Given the description of an element on the screen output the (x, y) to click on. 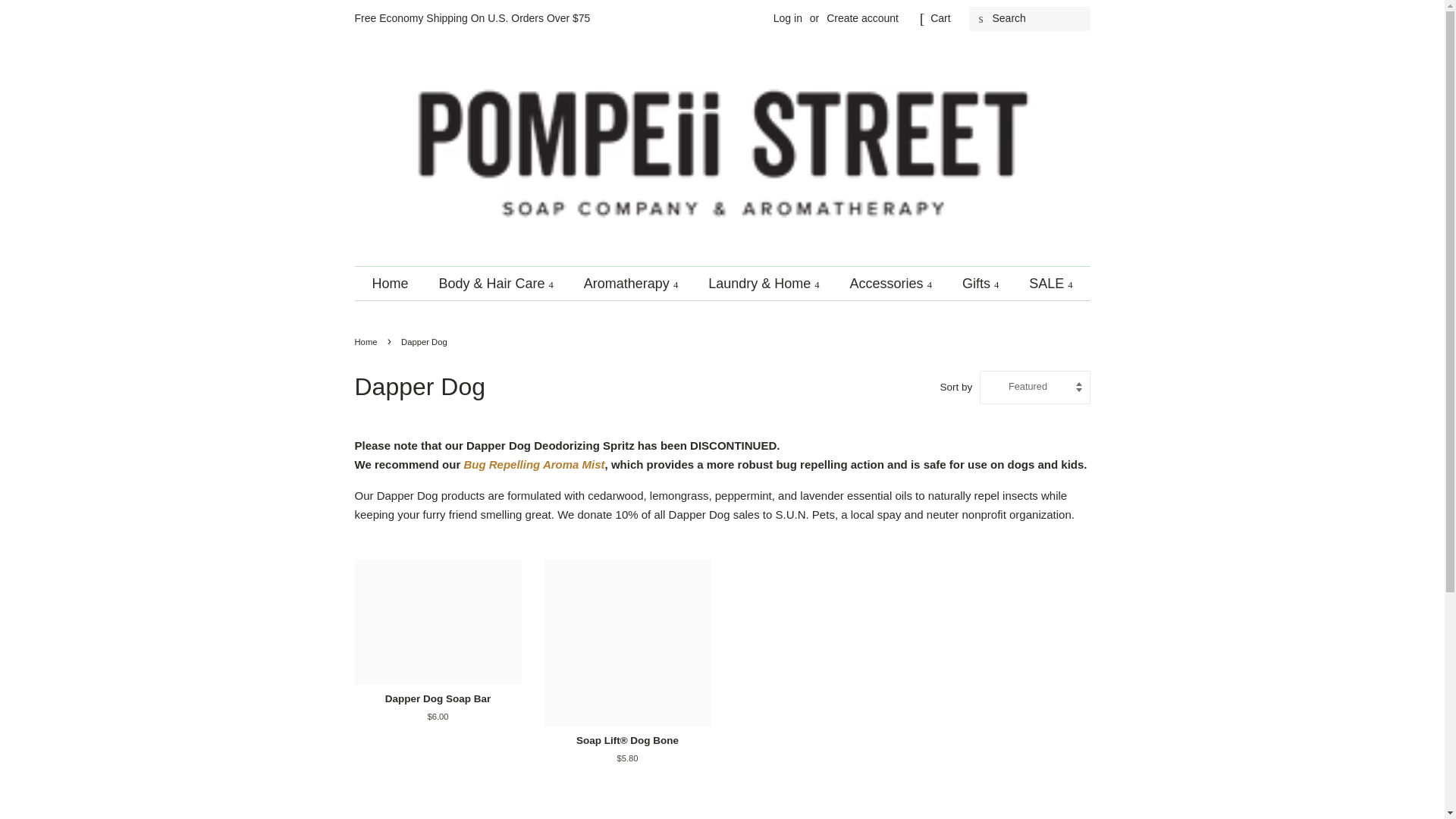
Back to the frontpage (368, 341)
Log in (787, 18)
Create account (862, 18)
Cart (940, 18)
Search (980, 18)
